Given the description of an element on the screen output the (x, y) to click on. 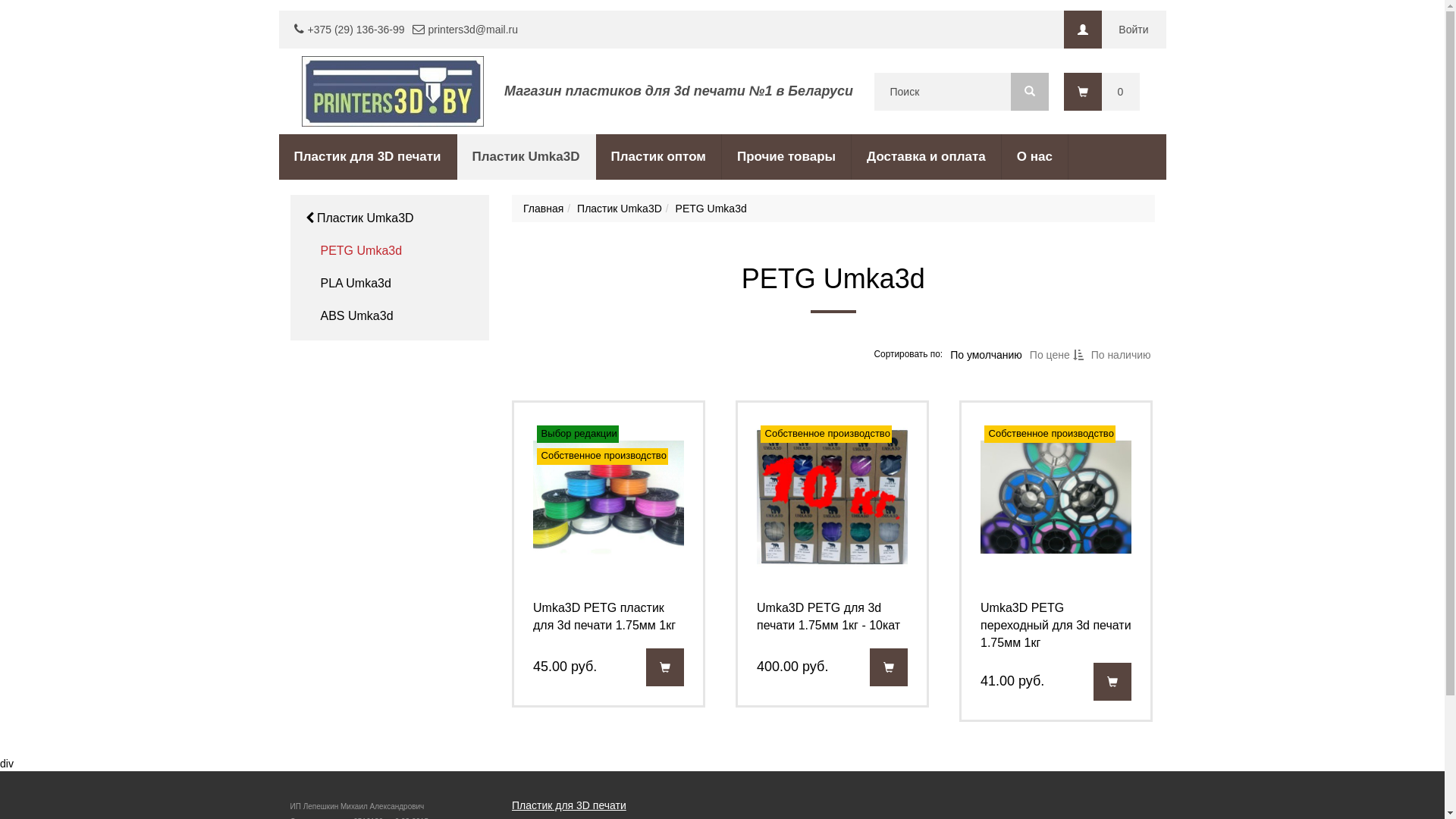
0 Element type: text (1101, 91)
printers3d@mail.ru Element type: text (472, 29)
PETG Umka3d Element type: text (360, 251)
+375 (29) 136-36-99 Element type: text (355, 29)
PLA Umka3d Element type: text (355, 283)
ABS Umka3d Element type: text (356, 316)
